Given the description of an element on the screen output the (x, y) to click on. 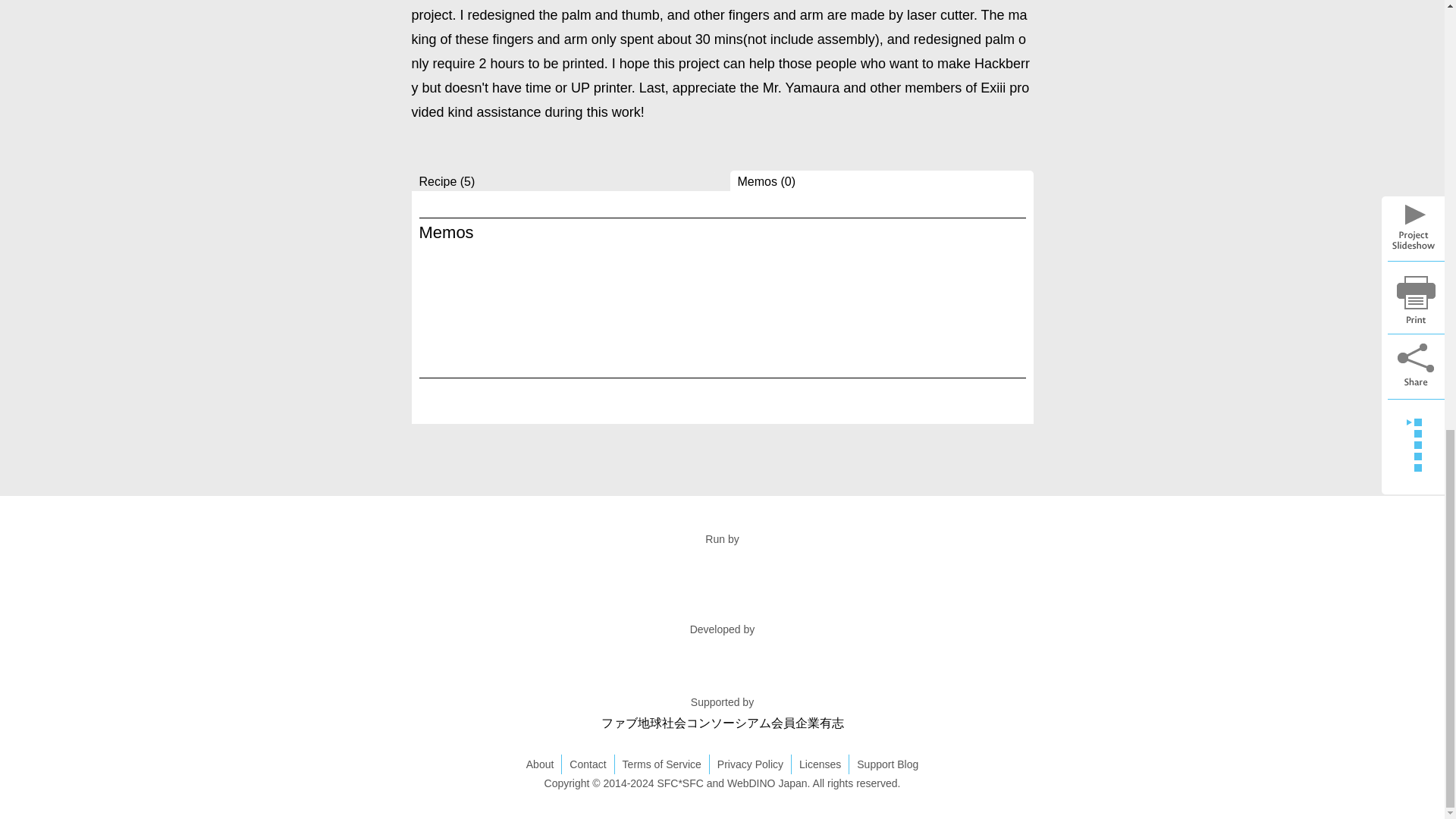
Licenses (820, 763)
About (540, 763)
Support Blog (887, 763)
Terms of Service (662, 763)
Privacy Policy (751, 763)
WebDINO Japan (767, 783)
Contact (588, 763)
